Given the description of an element on the screen output the (x, y) to click on. 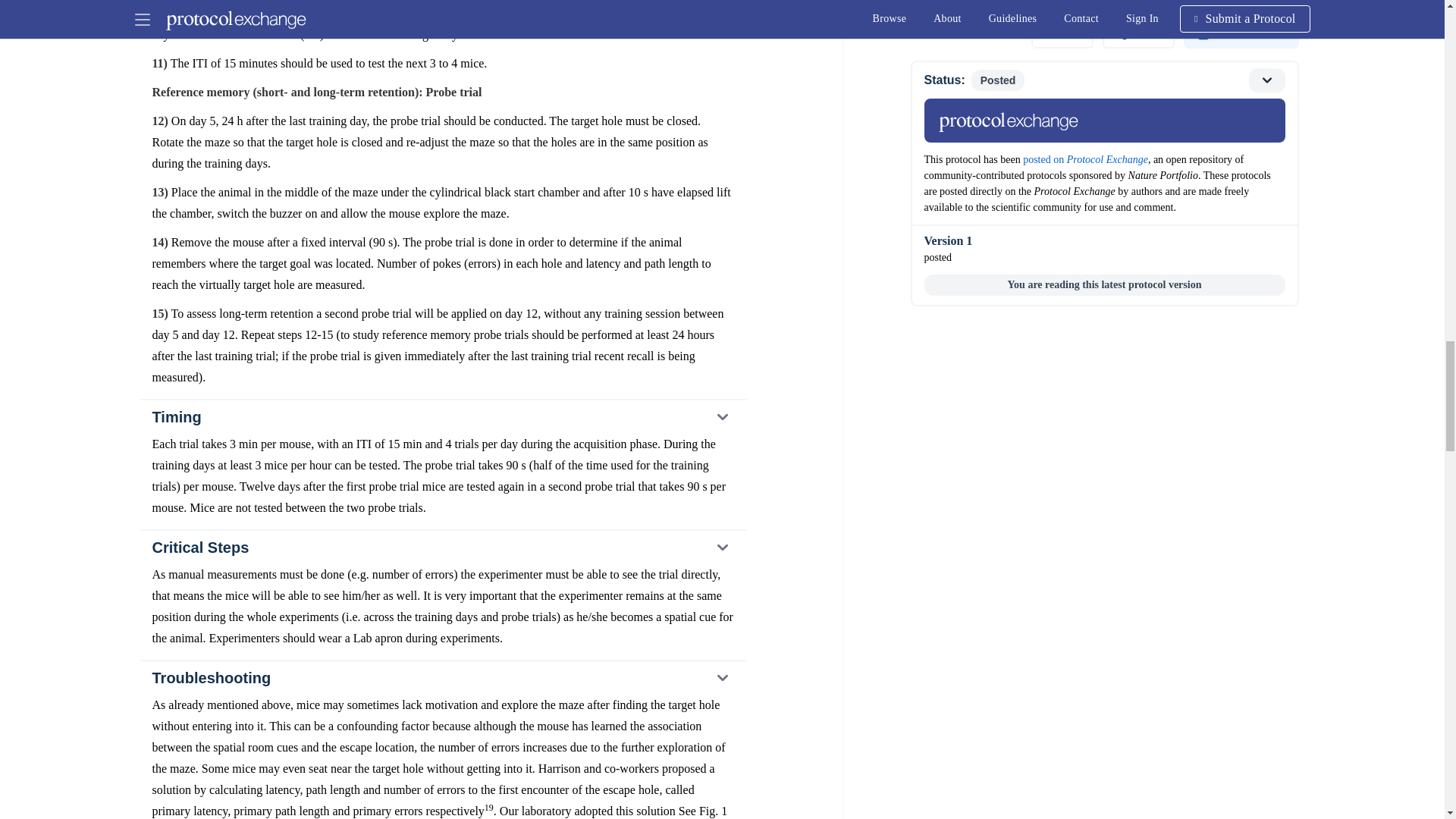
Timing (442, 417)
Troubleshooting (442, 677)
Critical Steps (442, 547)
